Given the description of an element on the screen output the (x, y) to click on. 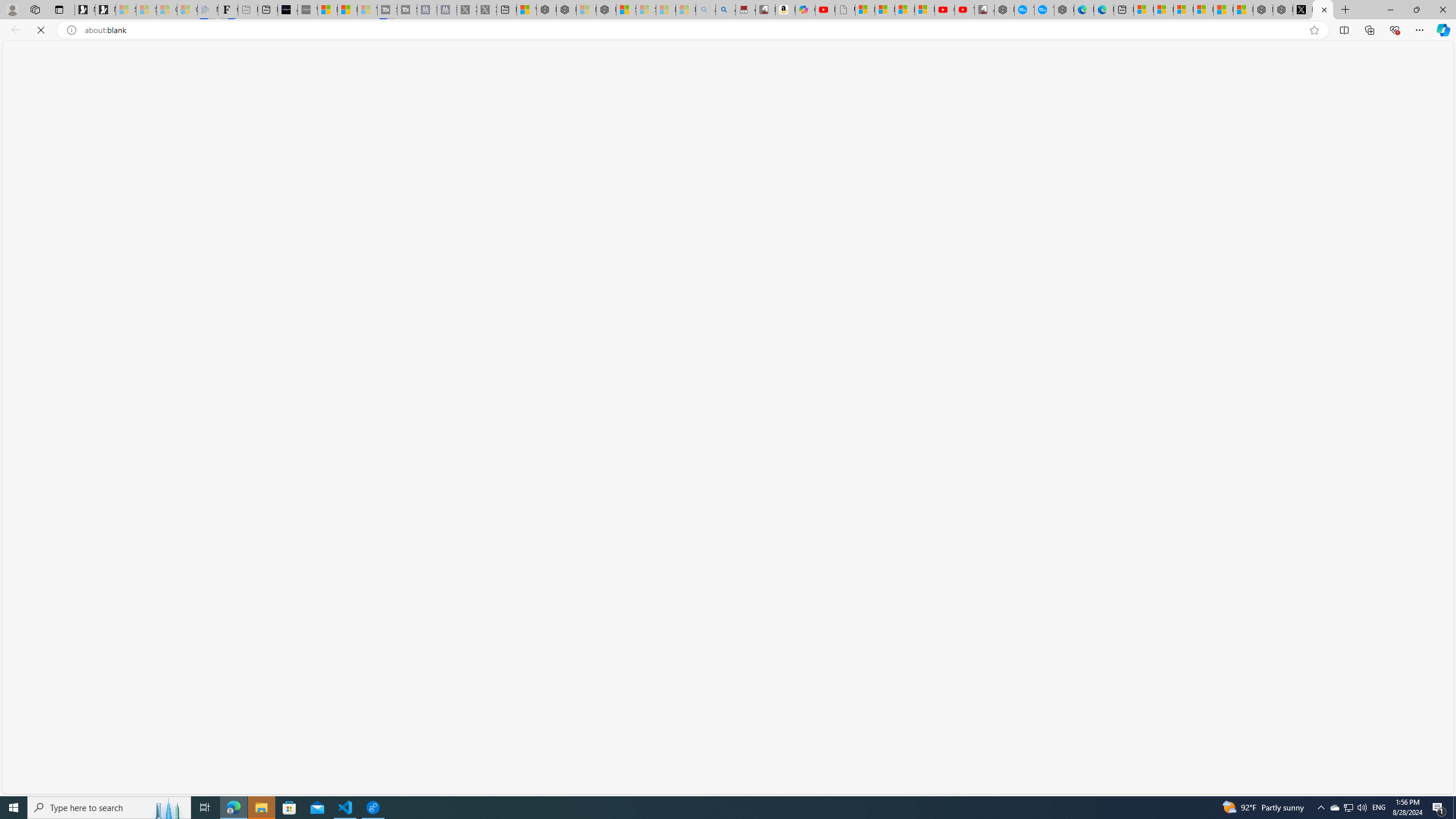
Microsoft account | Privacy (1203, 9)
YouTube Kids - An App Created for Kids to Explore Content (964, 9)
Streaming Coverage | T3 - Sleeping (386, 9)
Nordace (@NordaceOfficial) / X (1302, 9)
